Given the description of an element on the screen output the (x, y) to click on. 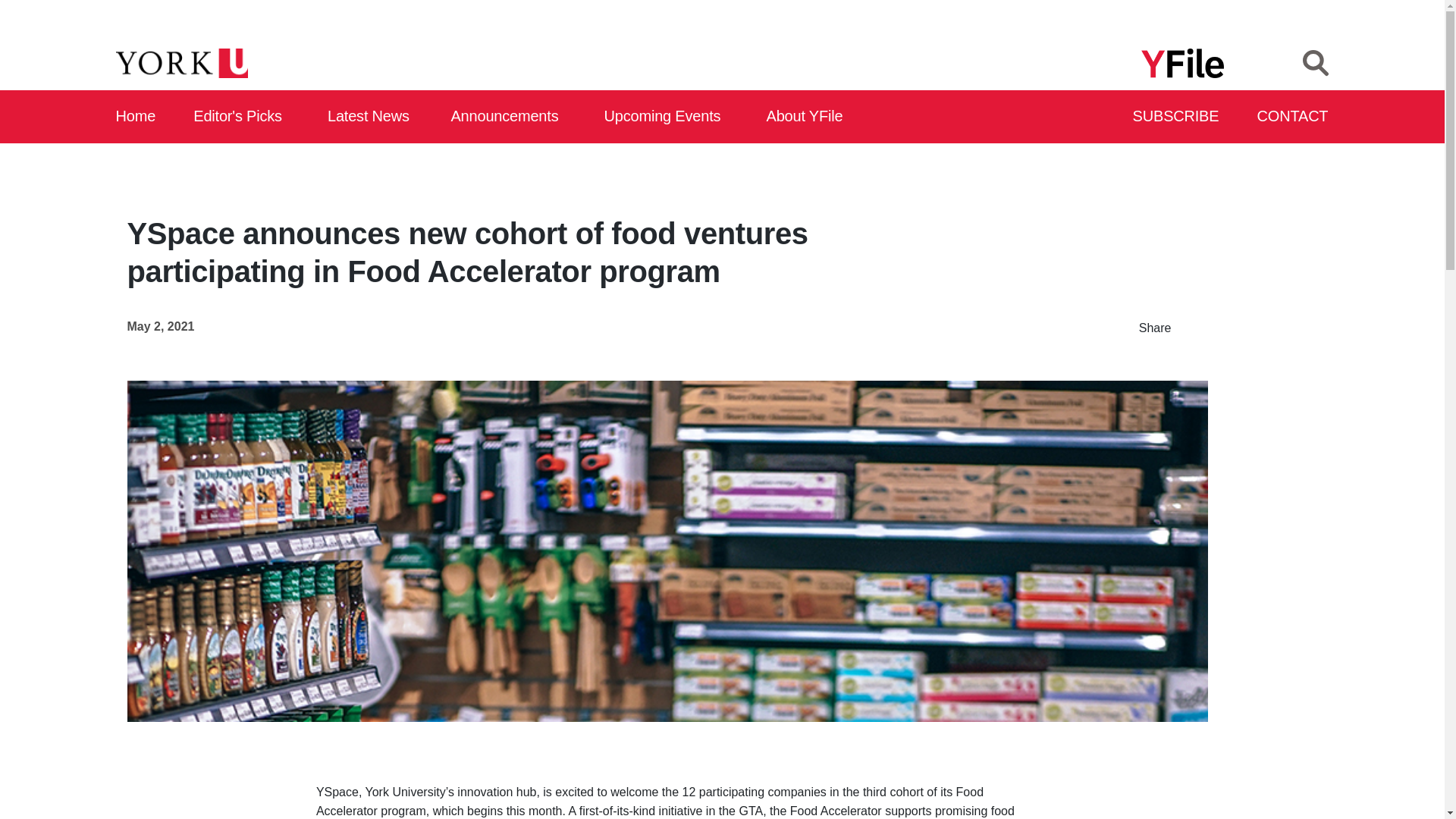
Editor's Picks (242, 116)
Announcements (508, 116)
Home (136, 116)
Upcoming Events (667, 116)
Home (136, 116)
Subscribe (1176, 116)
SUBSCRIBE (1176, 116)
CONTACT (1293, 116)
Latest News (370, 116)
About YFile (806, 116)
Editor's Picks (242, 116)
Latest News (370, 116)
About YFile (806, 116)
Upcoming Events (667, 116)
Announcements (508, 116)
